Given the description of an element on the screen output the (x, y) to click on. 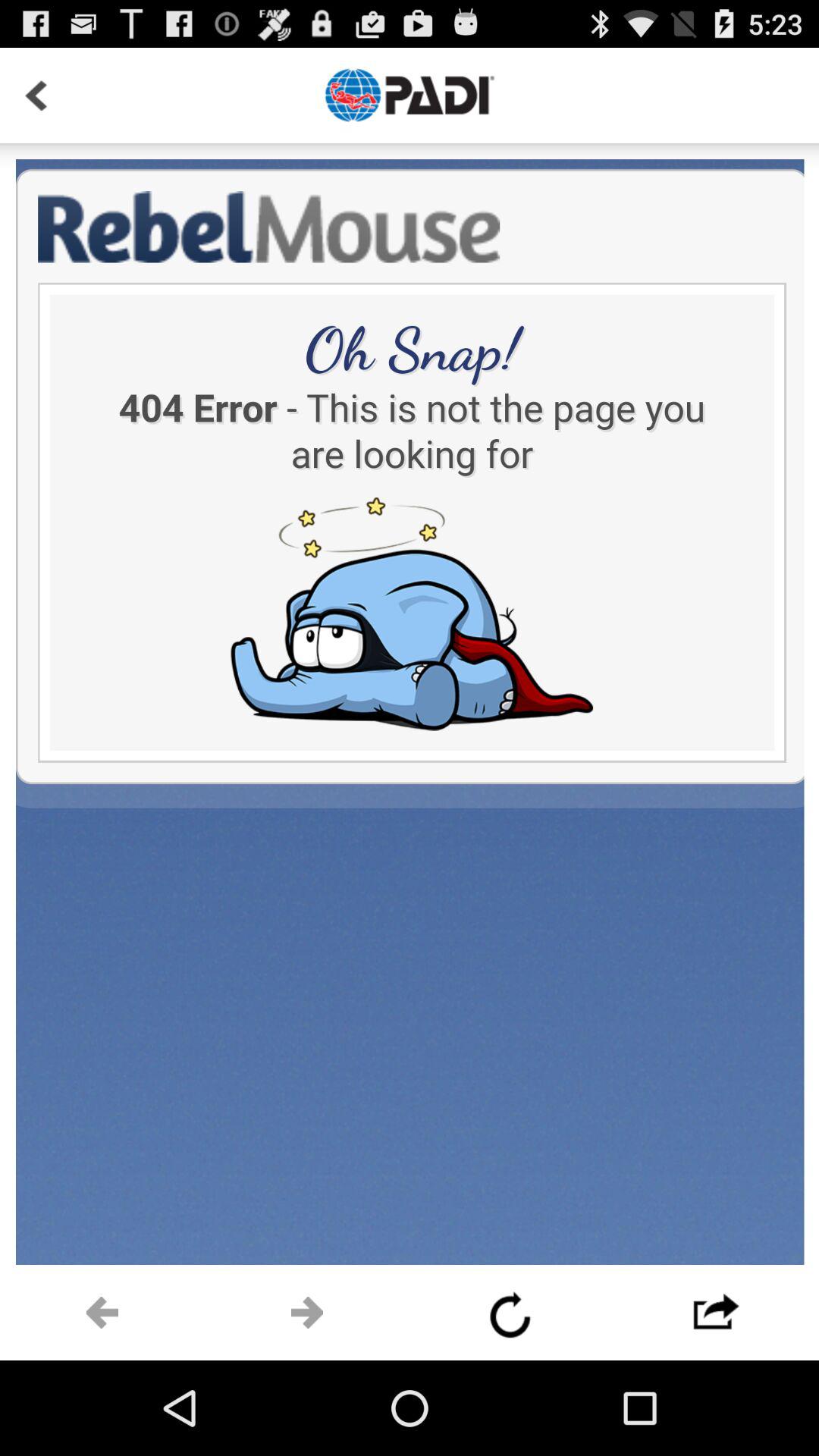
go to previous (511, 1312)
